Given the description of an element on the screen output the (x, y) to click on. 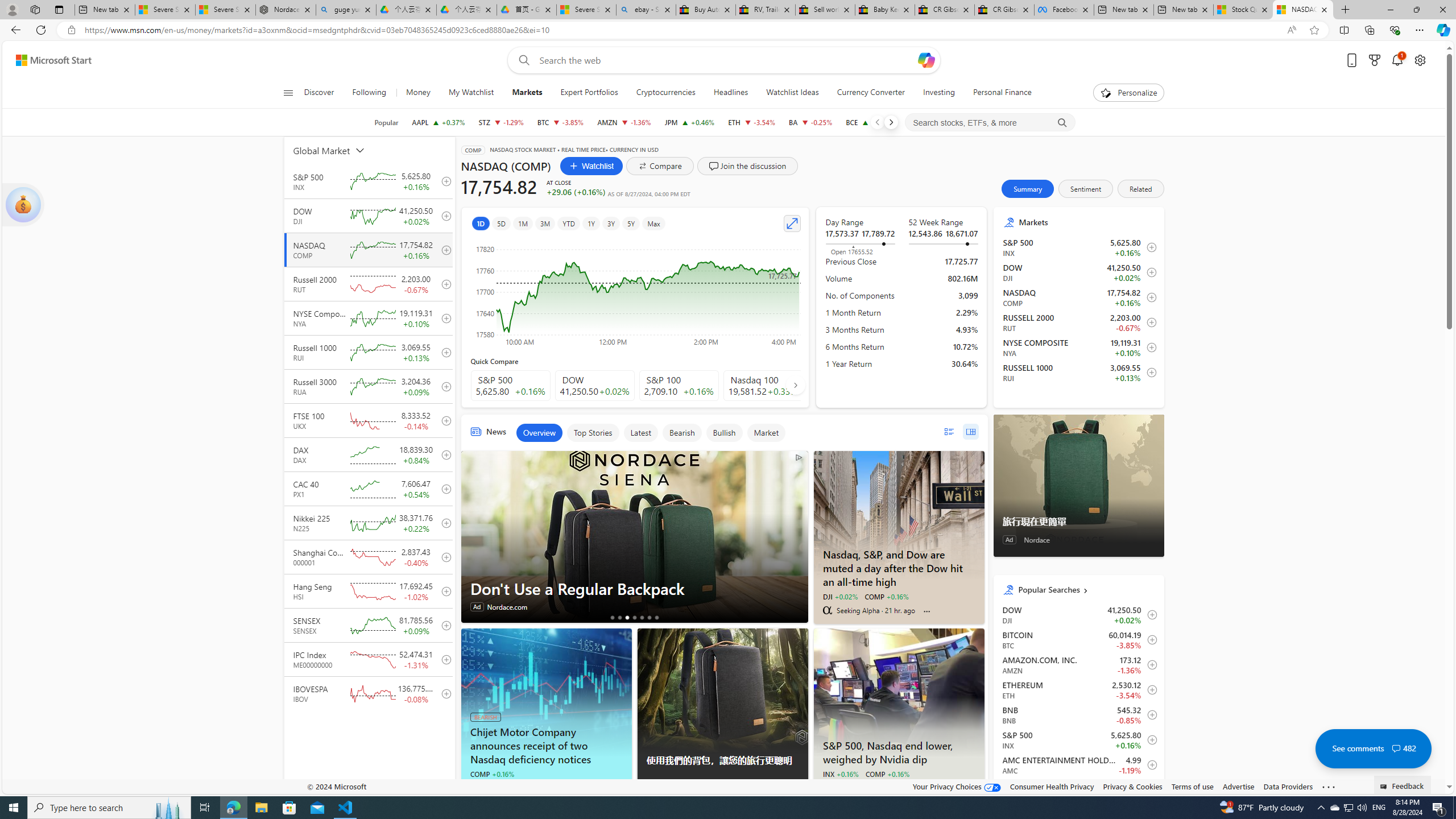
Next (890, 122)
Expert Portfolios (589, 92)
Max (653, 223)
Class: oneFooter_seeMore-DS-EntryPoint1-1 (1328, 786)
S&P 500, Nasdaq end lower, weighed by Nvidia dip - Reuters (898, 750)
Investing (939, 92)
Feedback (1402, 784)
5D (501, 223)
